Given the description of an element on the screen output the (x, y) to click on. 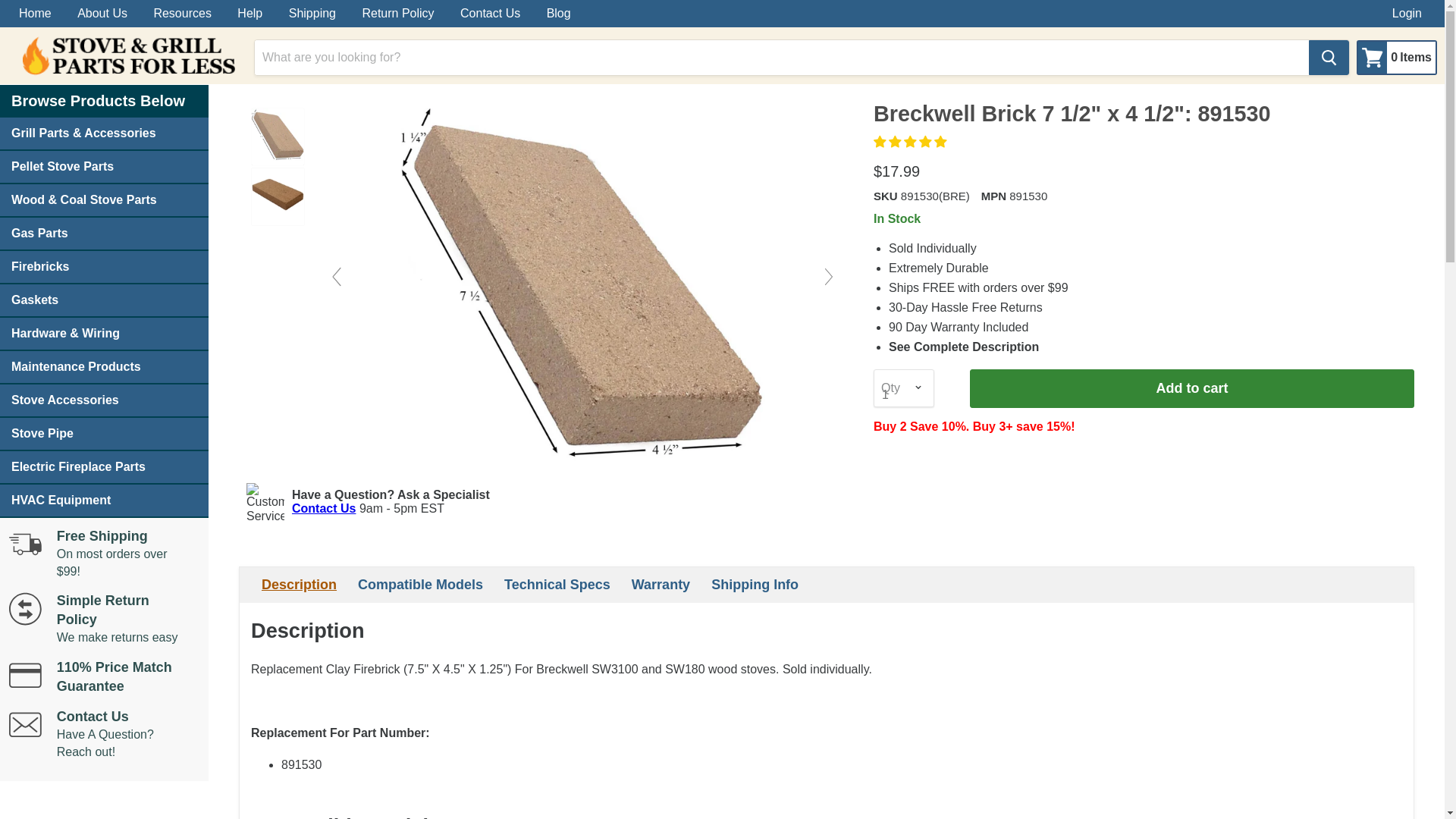
Resources (181, 13)
Return Policy (397, 13)
Pellet Stove Parts (104, 167)
Contact Us (489, 13)
Home (34, 13)
Gas Parts (104, 233)
About Us (101, 13)
Blog (1393, 57)
Stove Pipe (558, 13)
Firebricks (104, 434)
Login (104, 267)
Gaskets (1407, 13)
Maintenance Products (104, 300)
Help (104, 367)
